Given the description of an element on the screen output the (x, y) to click on. 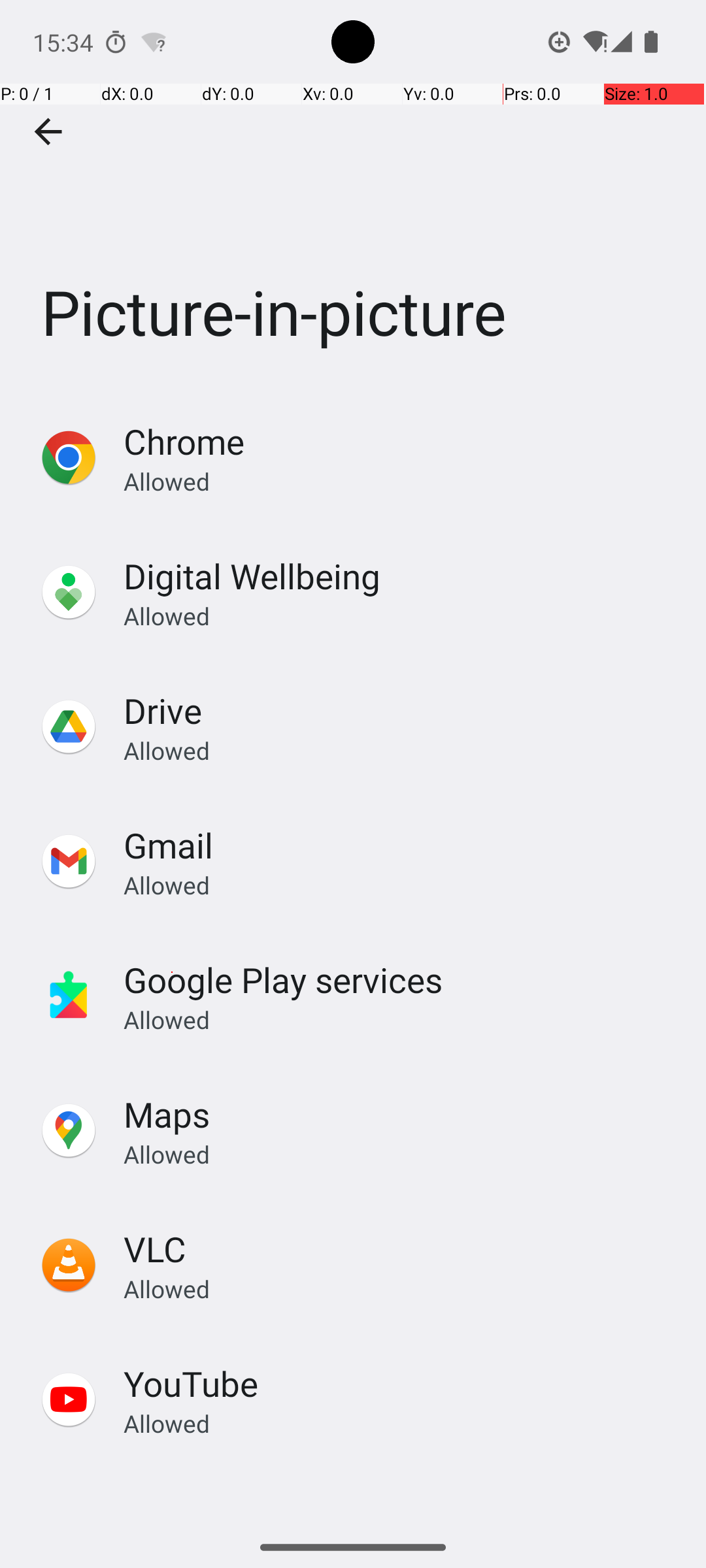
Picture-in-picture Element type: android.widget.FrameLayout (353, 195)
Maps Element type: android.widget.TextView (166, 1114)
